Given the description of an element on the screen output the (x, y) to click on. 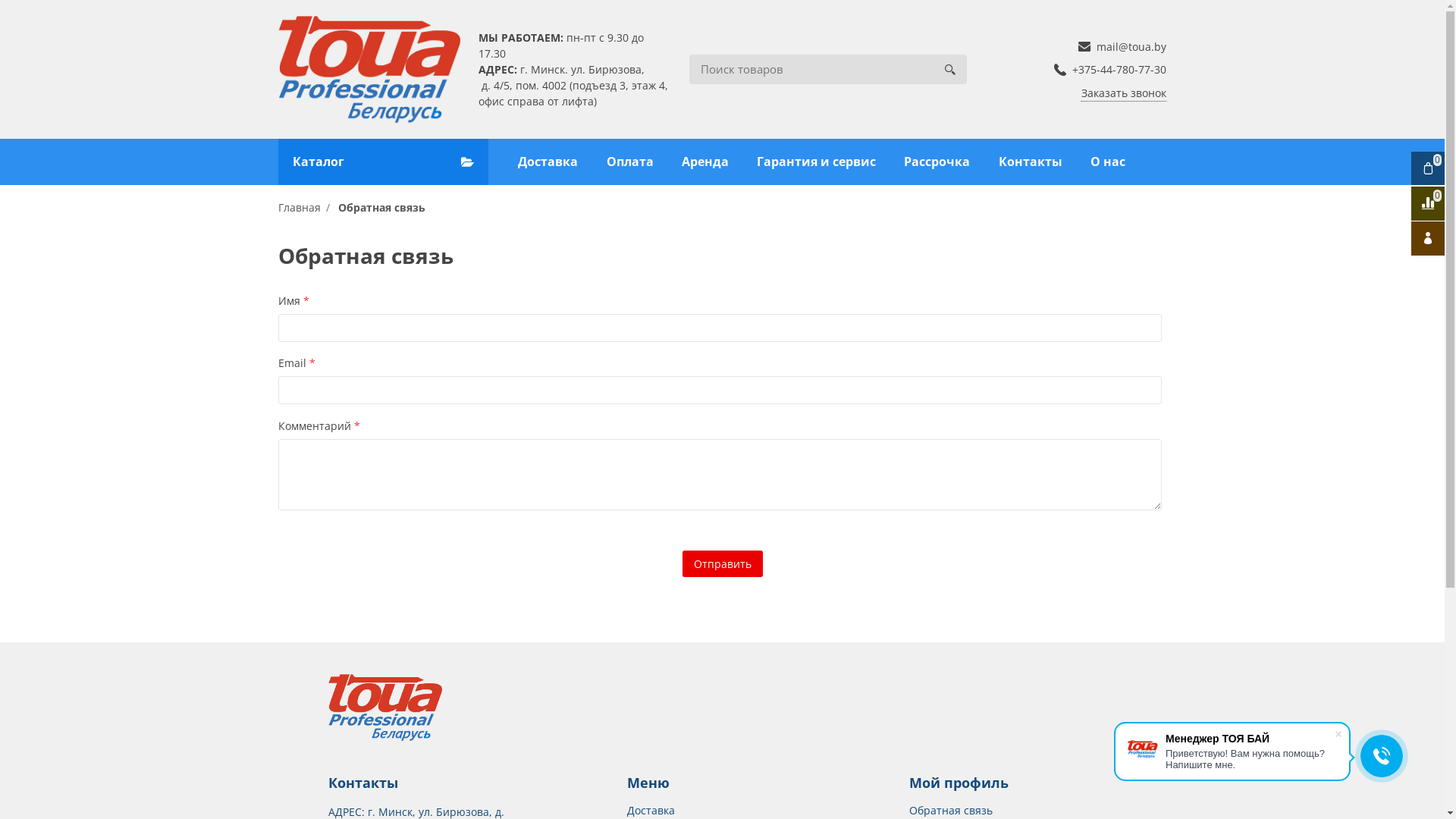
0 Element type: text (1427, 168)
0 Element type: text (1427, 202)
mail@toua.by Element type: text (1121, 46)
+375-44-780-77-30 Element type: text (1109, 69)
